Given the description of an element on the screen output the (x, y) to click on. 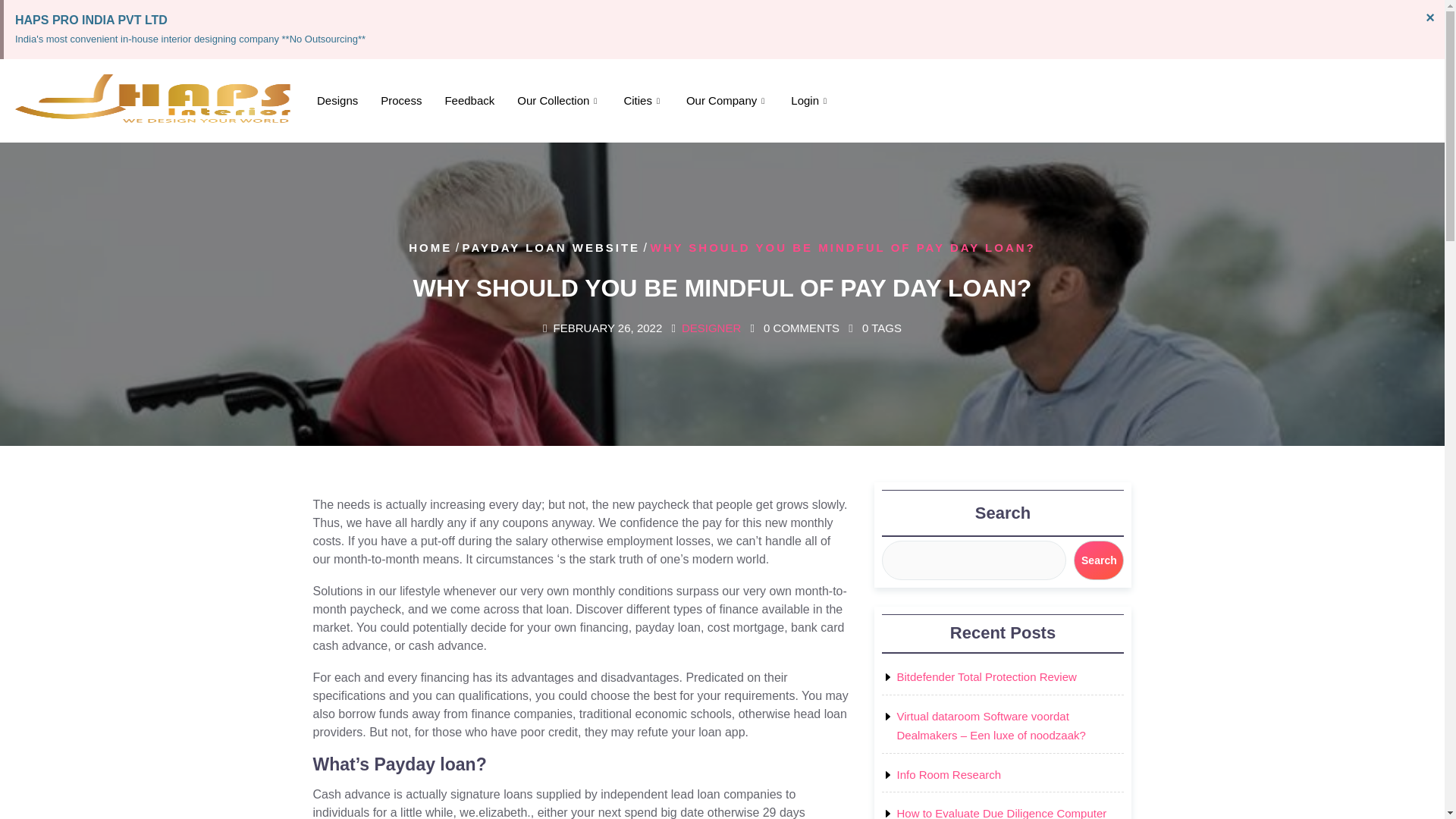
Our Collection (558, 100)
Feedback (468, 100)
Process (400, 100)
PAYDAY LOAN WEBSITE (551, 246)
Login (809, 100)
Designs (337, 100)
Cities (643, 100)
Our Company (726, 100)
HOME (430, 246)
